Given the description of an element on the screen output the (x, y) to click on. 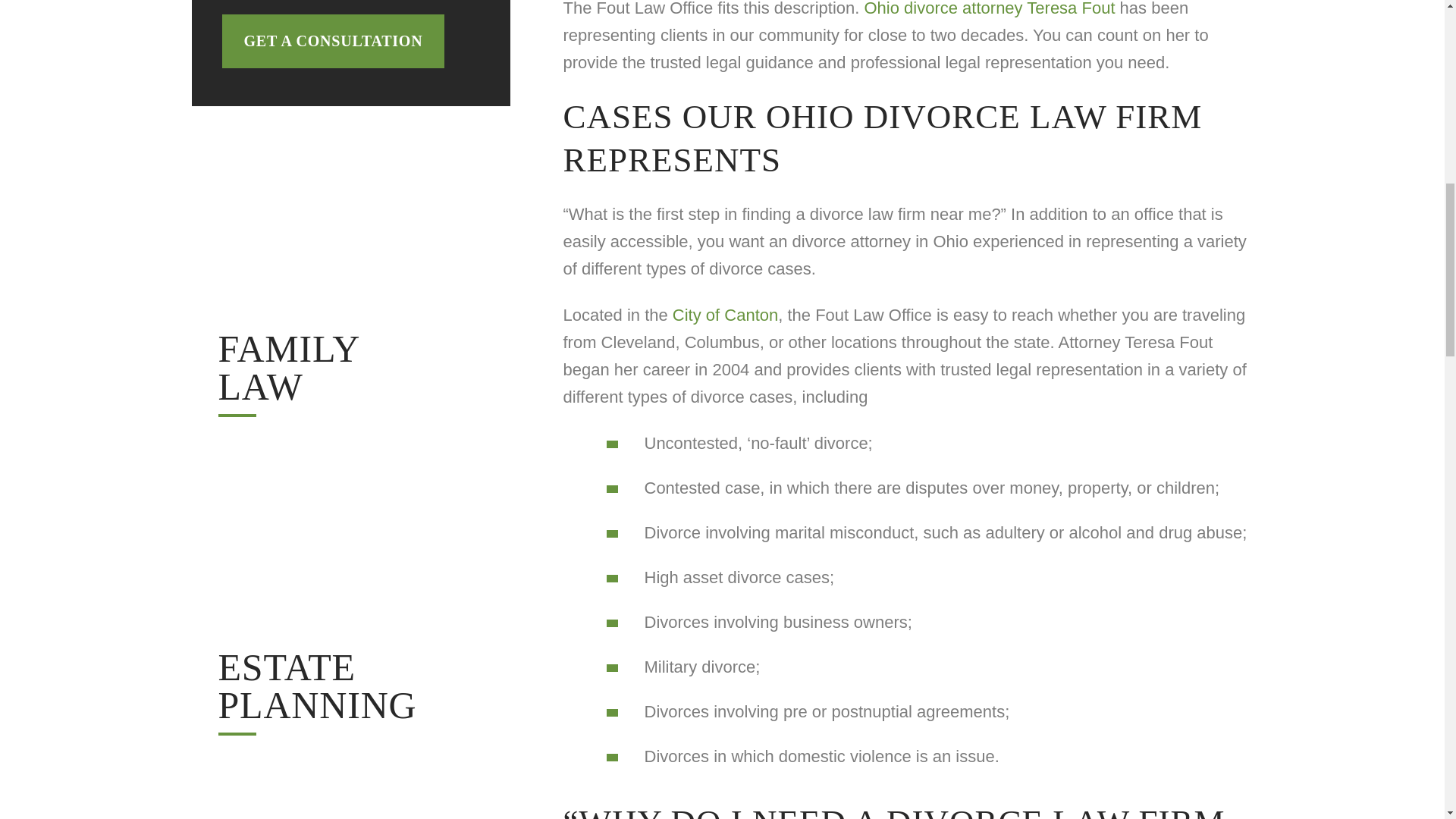
Arrow (349, 295)
GET A CONSULTATION (350, 691)
City of Canton (350, 373)
Ohio divorce attorney Teresa Fout (332, 40)
Arrow (724, 314)
